Given the description of an element on the screen output the (x, y) to click on. 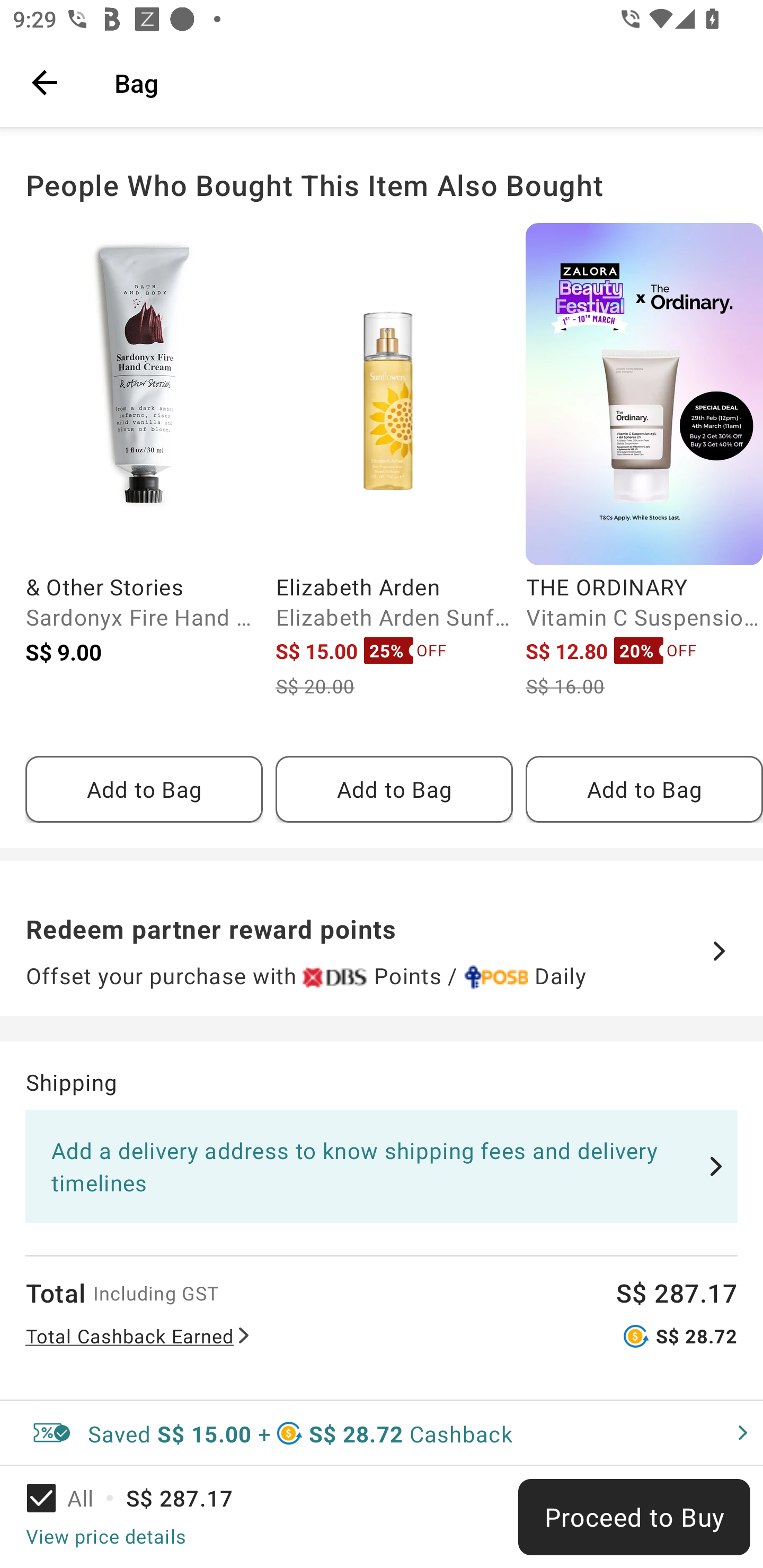
Navigate up (44, 82)
Bag (426, 82)
Add to Bag (143, 789)
Add to Bag (393, 789)
Add to Bag (644, 789)
Saved S$ 15.00 +   S$ 28.72 Cashback (381, 1432)
All (72, 1497)
Proceed to Buy (634, 1516)
View price details (105, 1535)
